Given the description of an element on the screen output the (x, y) to click on. 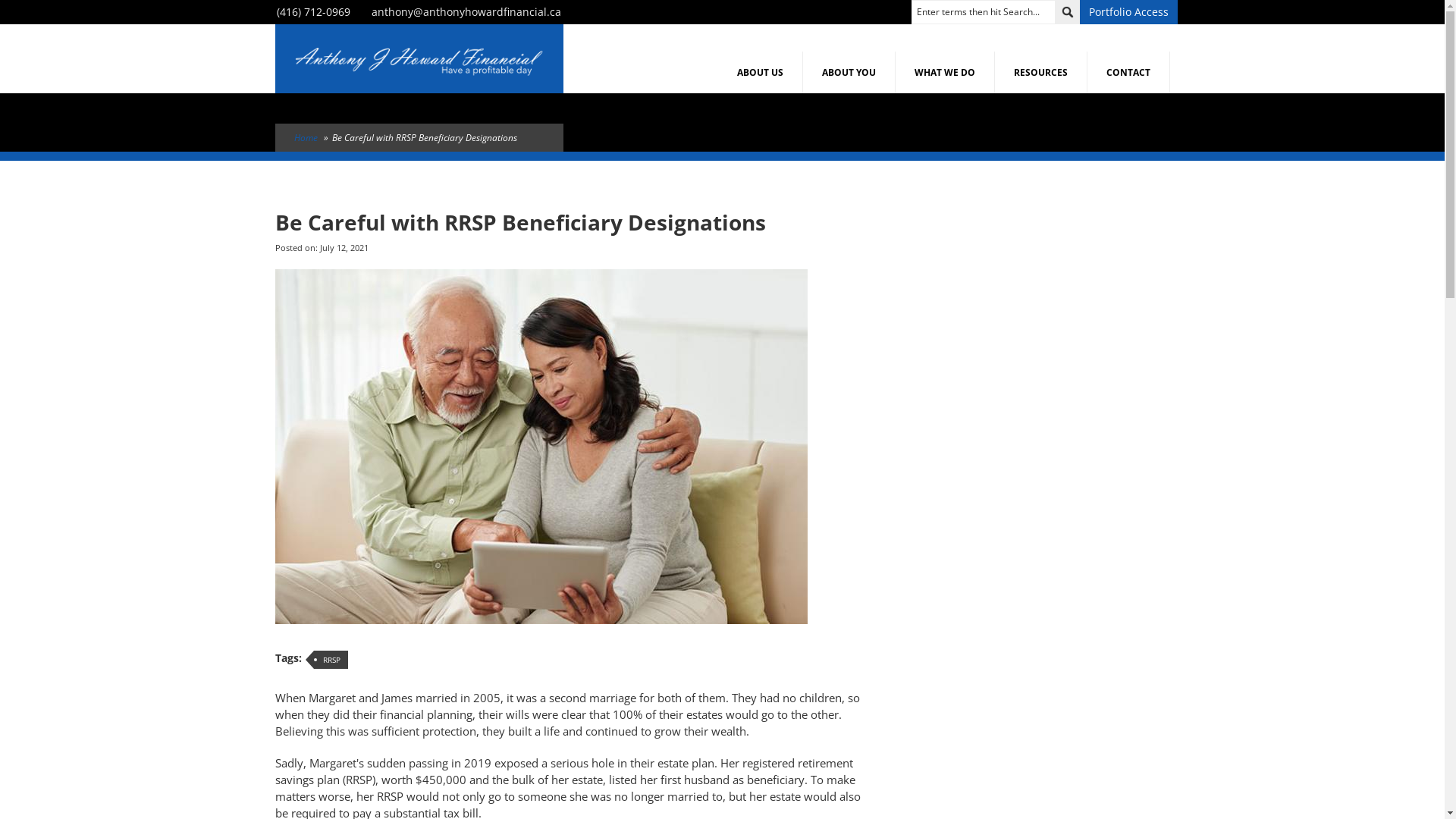
RRSP Element type: text (330, 659)
ABOUT YOU Element type: text (848, 72)
WHAT WE DO Element type: text (944, 72)
Home Element type: text (305, 137)
Skip to main content Element type: text (52, 0)
Portfolio Access Element type: text (1128, 12)
CONTACT Element type: text (1128, 72)
Home Element type: hover (418, 57)
RESOURCES Element type: text (1040, 72)
ABOUT US Element type: text (759, 72)
anthony@anthonyhowardfinancial.ca Element type: text (466, 11)
(416) 712-0969 Element type: text (312, 11)
